Given the description of an element on the screen output the (x, y) to click on. 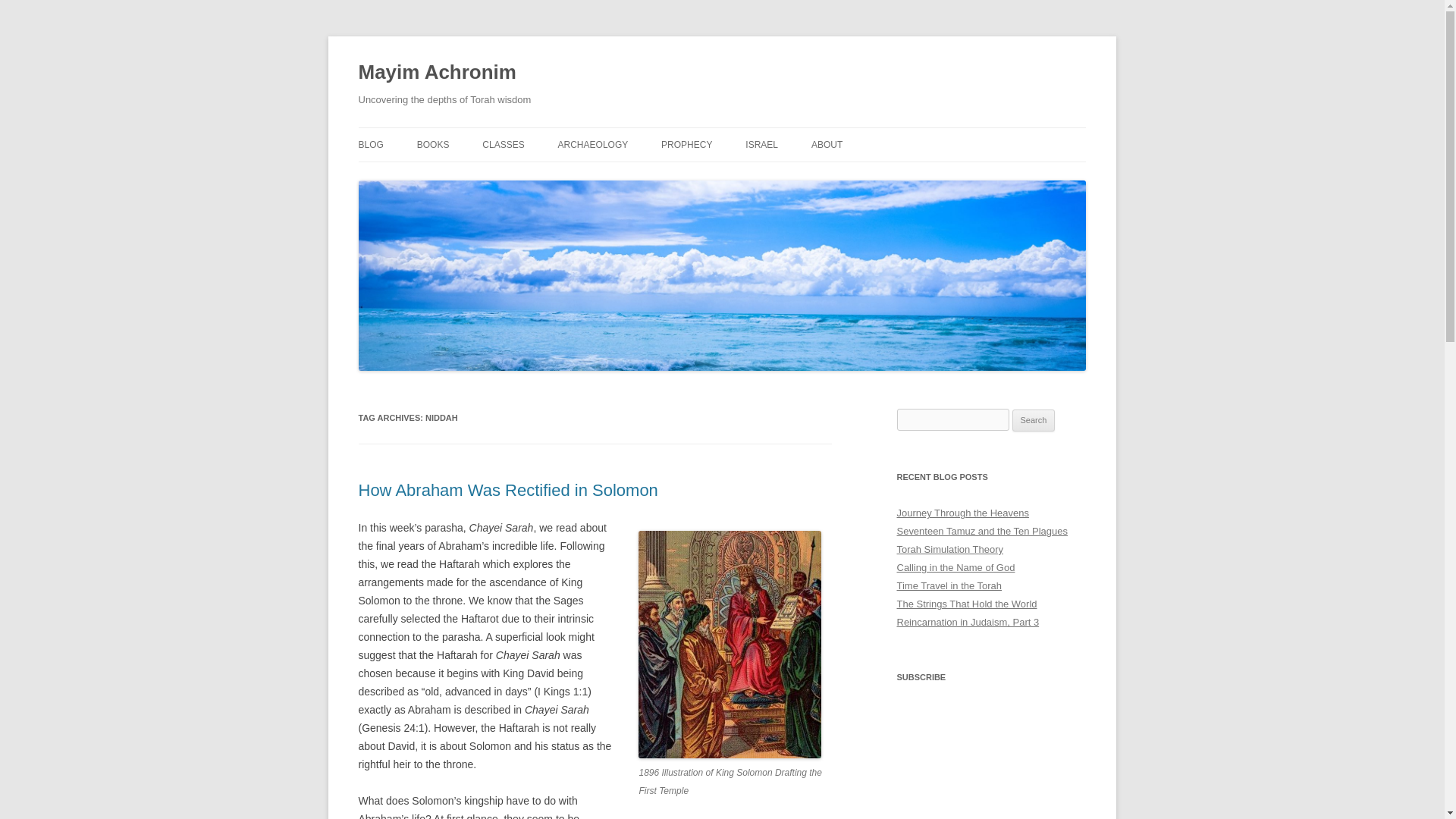
ABOUT (826, 144)
CLASSES (502, 144)
Mayim Achronim (436, 72)
ISRAEL (761, 144)
How Abraham Was Rectified in Solomon (508, 489)
ARCHAEOLOGY (592, 144)
PROPHECY (686, 144)
Search (1033, 420)
BOOKS (432, 144)
